Given the description of an element on the screen output the (x, y) to click on. 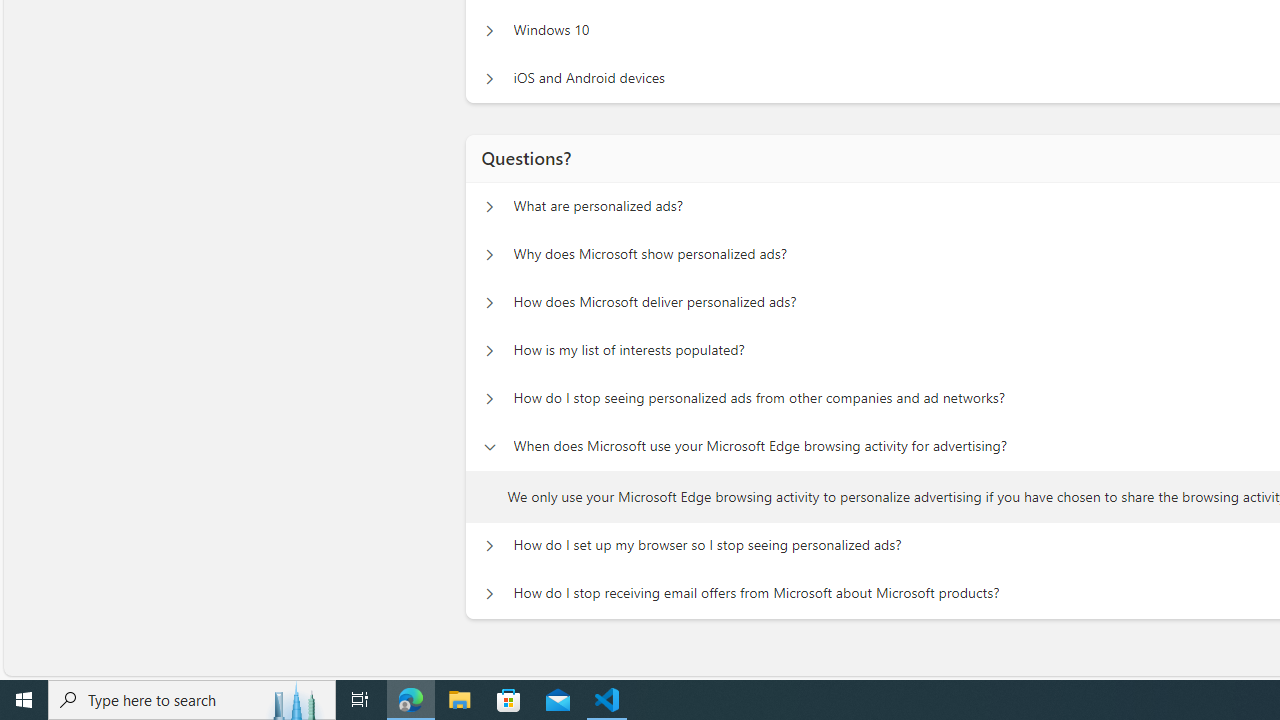
Questions? What are personalized ads? (489, 206)
Questions? How does Microsoft deliver personalized ads? (489, 302)
Questions? Why does Microsoft show personalized ads? (489, 255)
Manage personalized ads on your device Windows 10 (489, 30)
Questions? How is my list of interests populated? (489, 350)
